Given the description of an element on the screen output the (x, y) to click on. 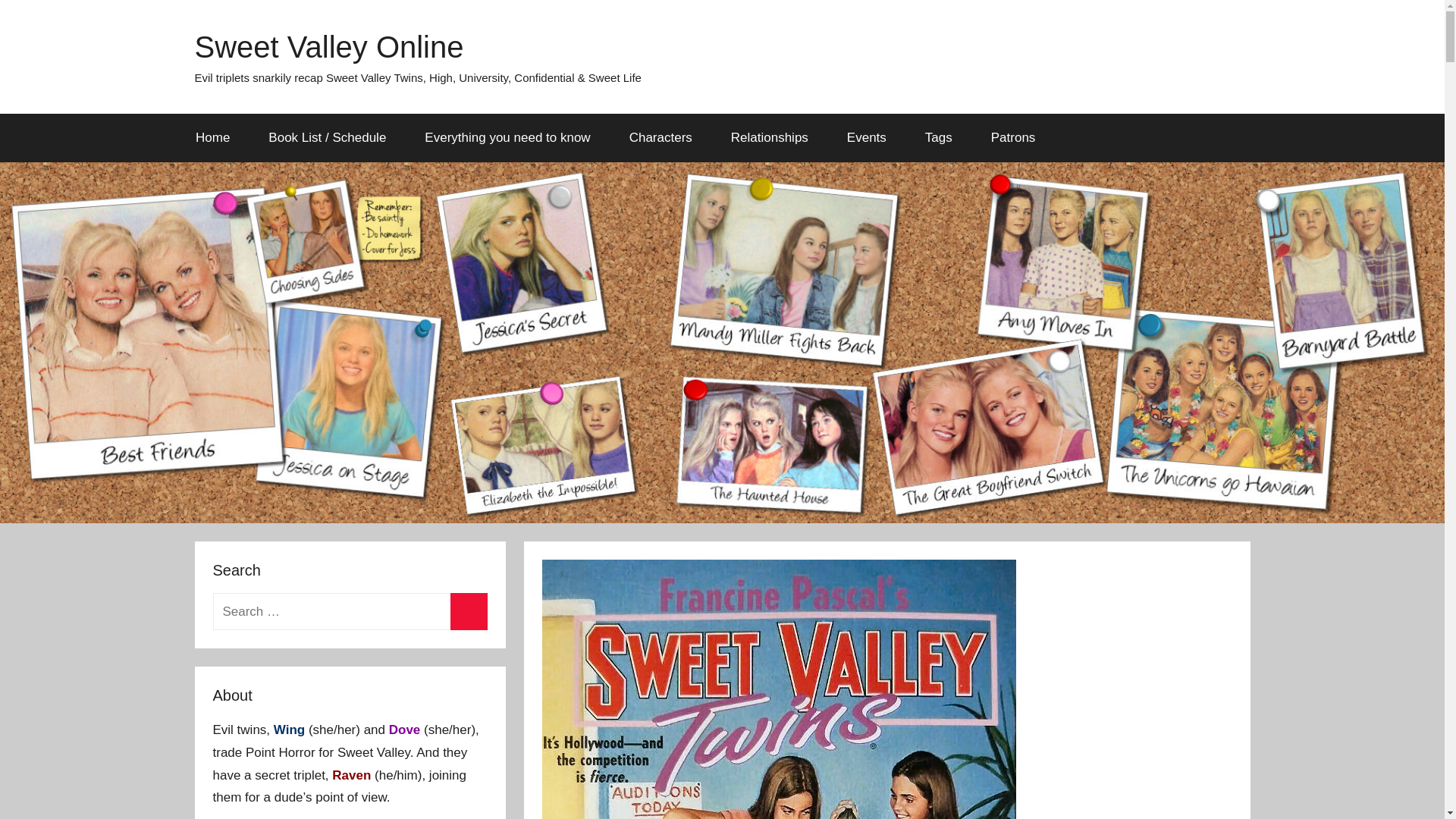
Relationships (769, 137)
Characters (660, 137)
Tags (938, 137)
Everything you need to know (508, 137)
Events (866, 137)
Patrons (1012, 137)
Home (212, 137)
Sweet Valley Online (328, 46)
